Given the description of an element on the screen output the (x, y) to click on. 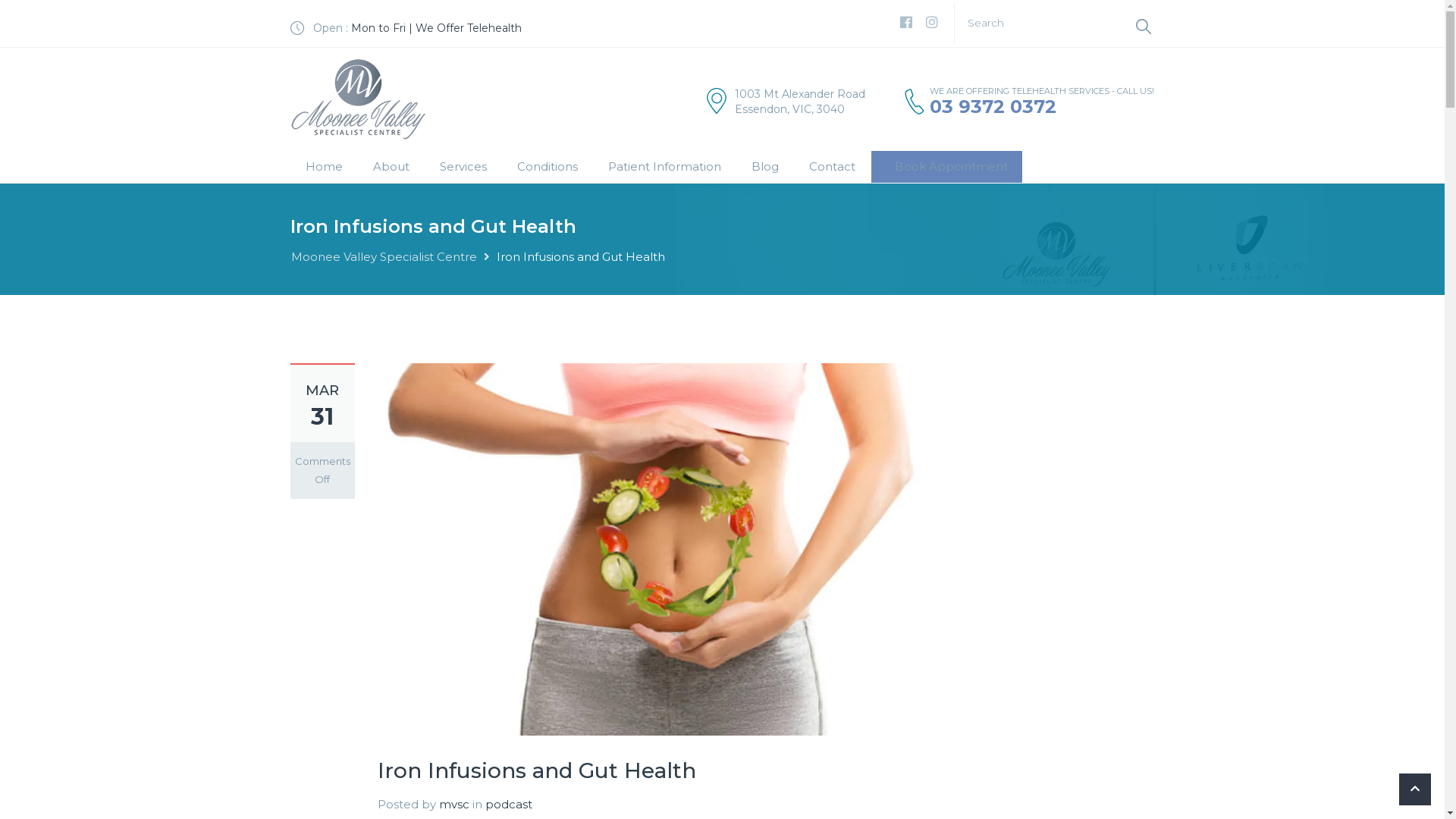
Contact Element type: text (831, 166)
Moonee Valley Specialist Centre Element type: text (383, 256)
About Element type: text (390, 166)
Blog Element type: text (765, 166)
Services Element type: text (462, 166)
Patient Information Element type: text (663, 166)
Conditions Element type: text (546, 166)
Home Element type: text (324, 166)
Book Appointment Element type: text (945, 166)
podcast Element type: text (508, 804)
03 9372 0372 Element type: text (992, 106)
Iron Infusions and Gut Health Element type: hover (655, 547)
mvsc Element type: text (453, 804)
